Given the description of an element on the screen output the (x, y) to click on. 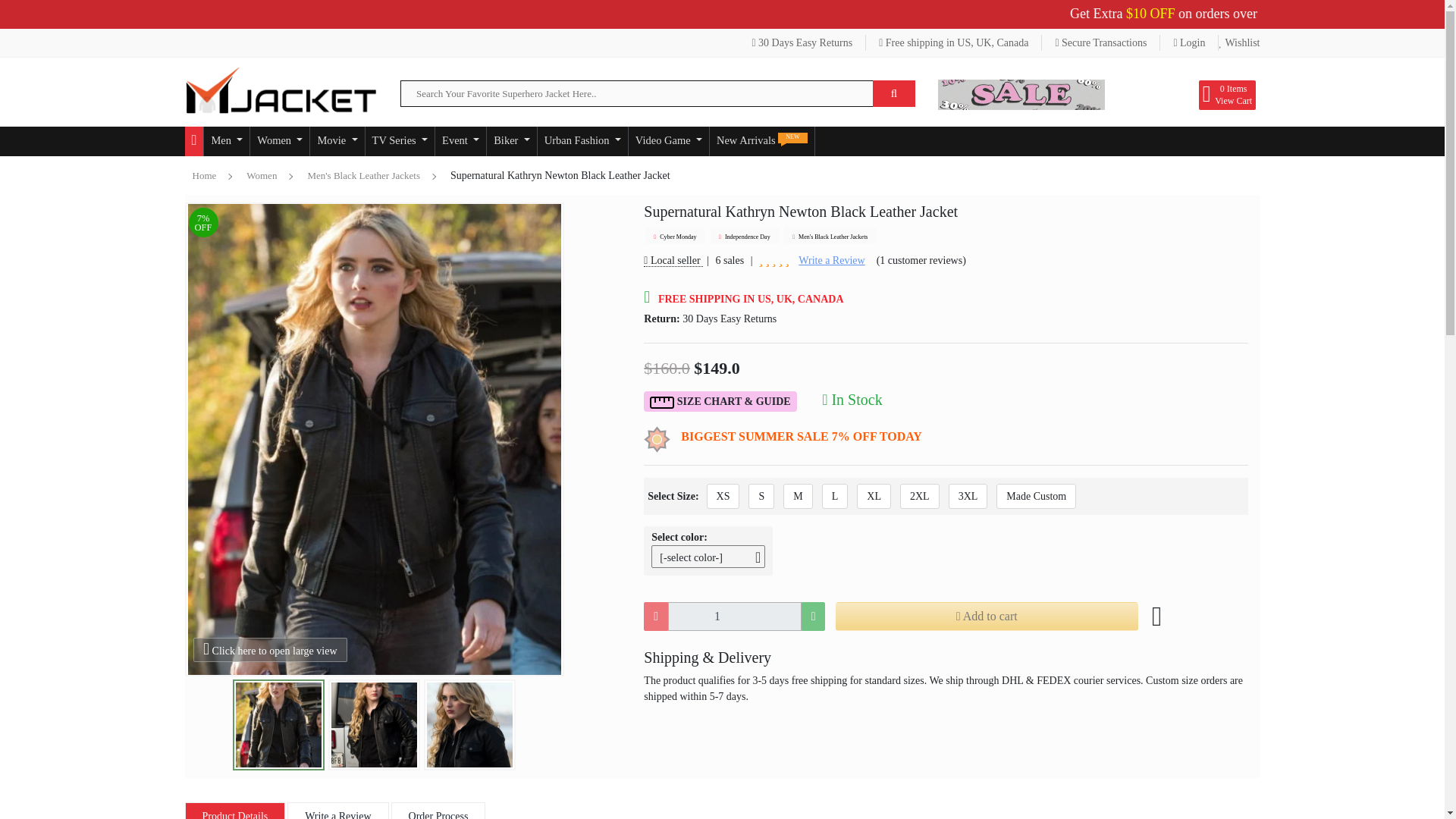
Wishlist (1238, 42)
Register or Login (1189, 42)
Women (279, 140)
Women (279, 140)
Men (225, 140)
New Arrivals (761, 140)
Wishlist (1238, 42)
Men (225, 140)
30 Days Easy Returns (802, 42)
30 Days Easy Returns (802, 42)
